Given the description of an element on the screen output the (x, y) to click on. 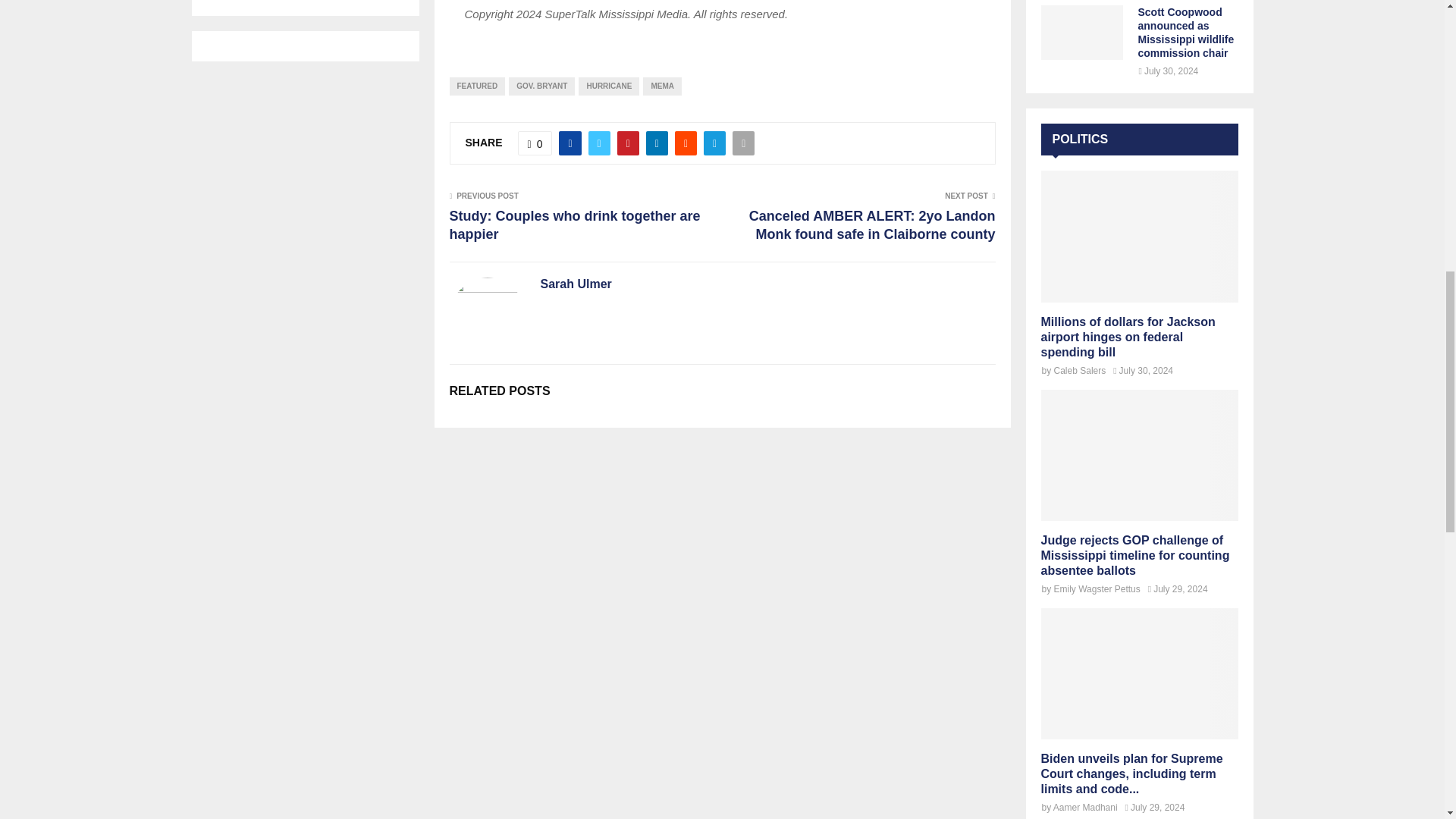
Posts by Sarah Ulmer (575, 284)
Like (535, 143)
